Given the description of an element on the screen output the (x, y) to click on. 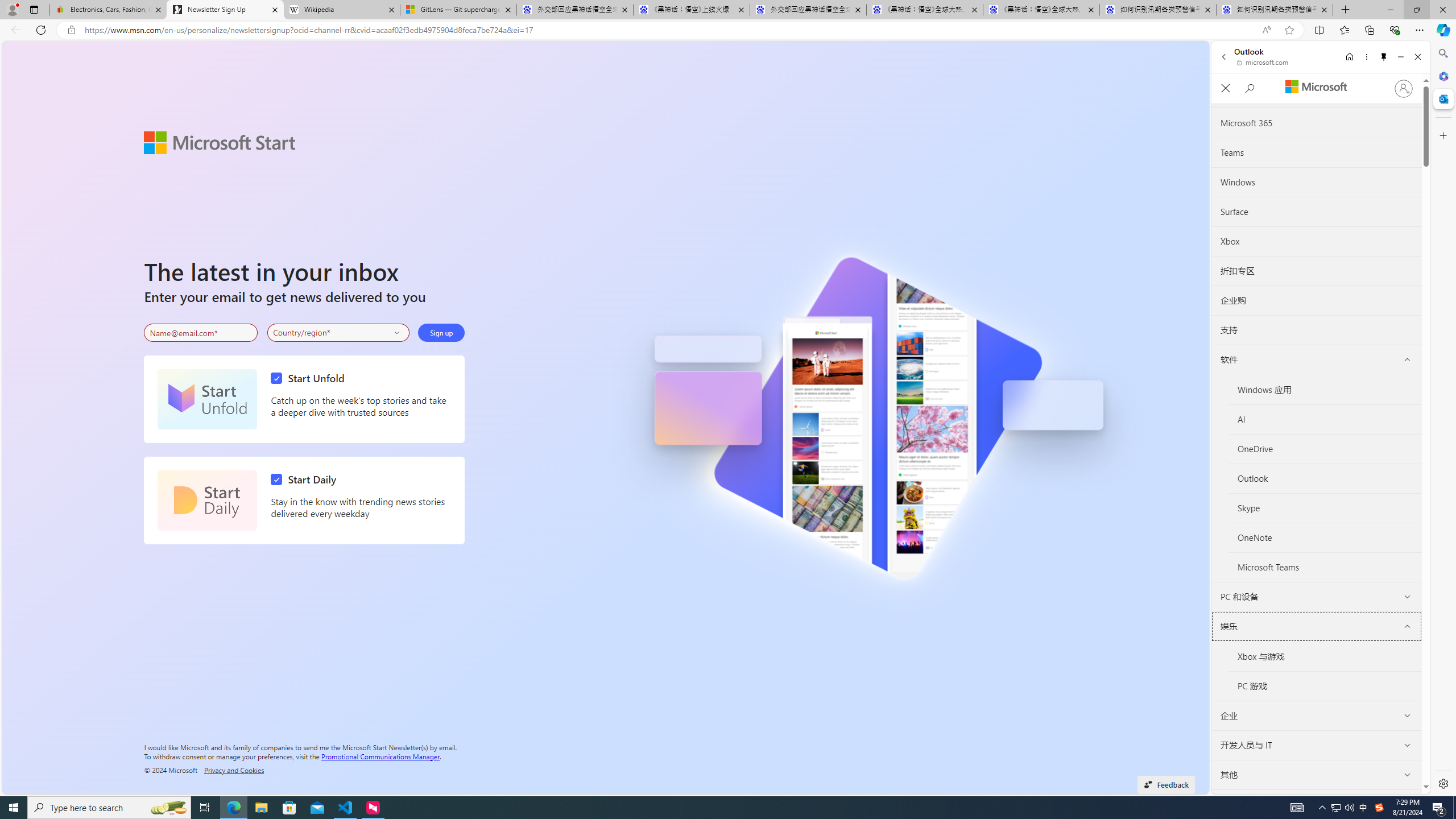
Surface (1316, 212)
